Given the description of an element on the screen output the (x, y) to click on. 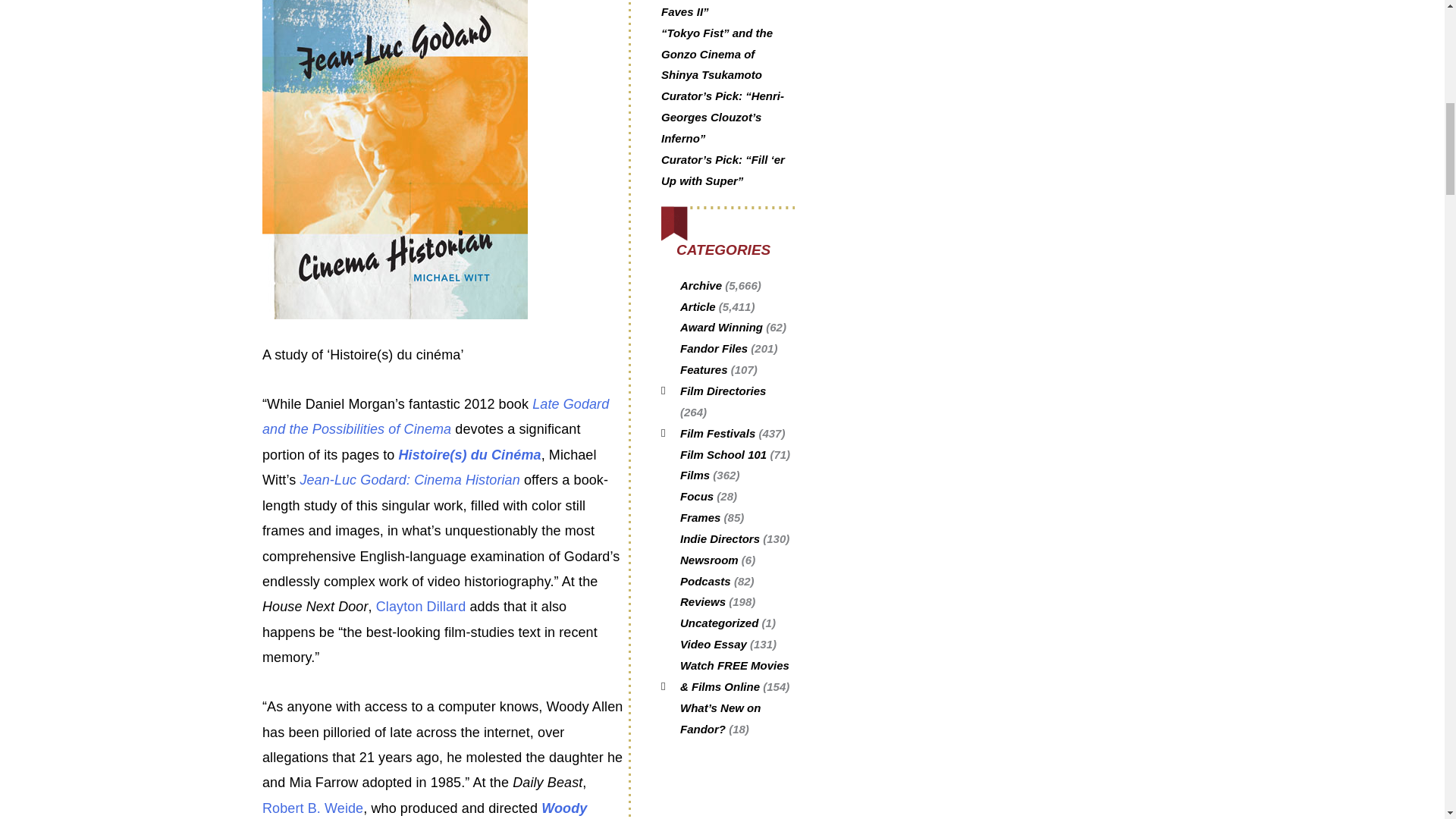
Late Godard and the Possibilities of Cinema (435, 416)
Clayton Dillard (420, 606)
Jean-Luc Godard: Cinema Historian (409, 479)
Woody Allen: A Documentary (424, 809)
Robert B. Weide (312, 807)
